Given the description of an element on the screen output the (x, y) to click on. 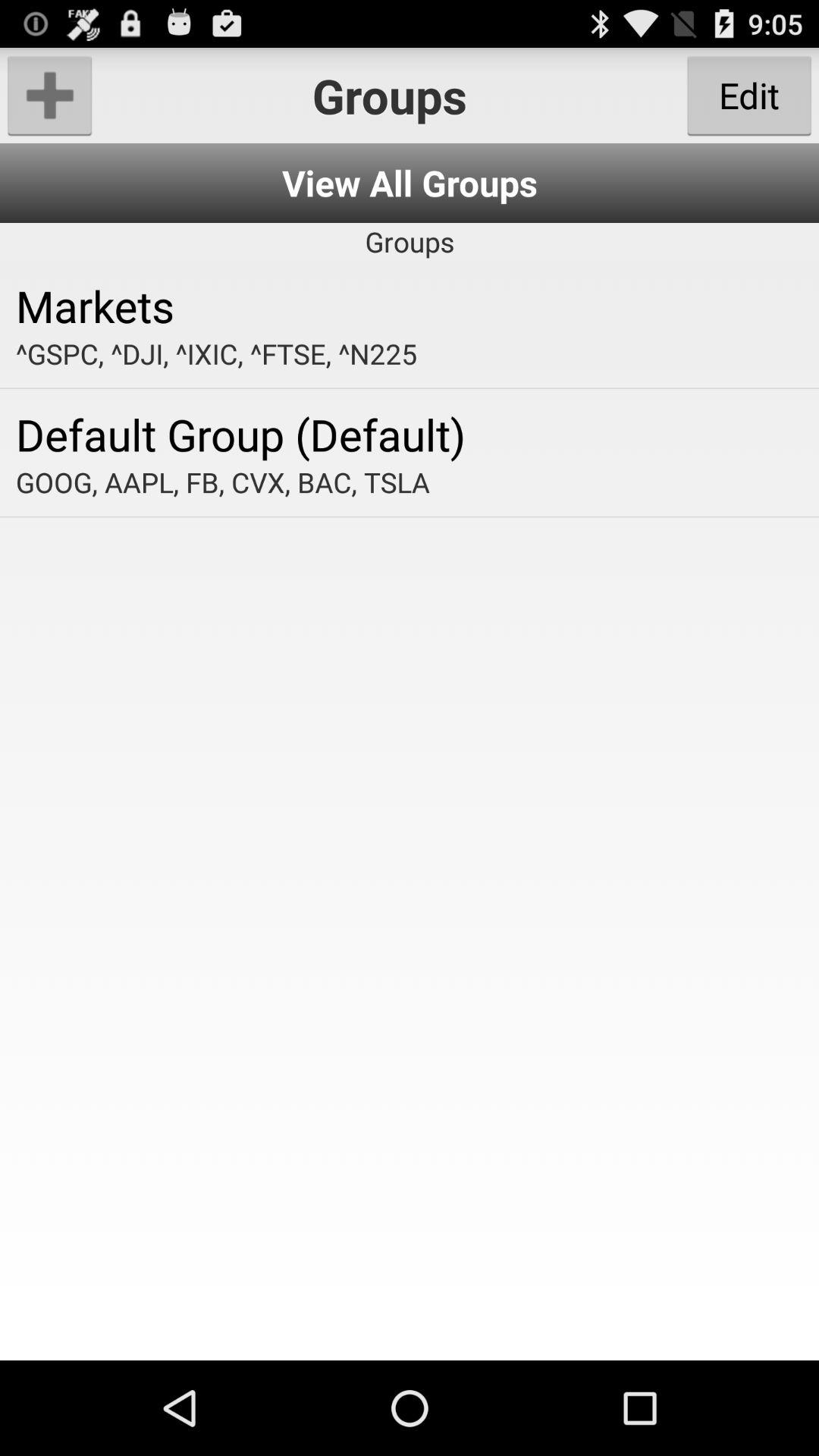
open the app above the default group (default) item (409, 353)
